Given the description of an element on the screen output the (x, y) to click on. 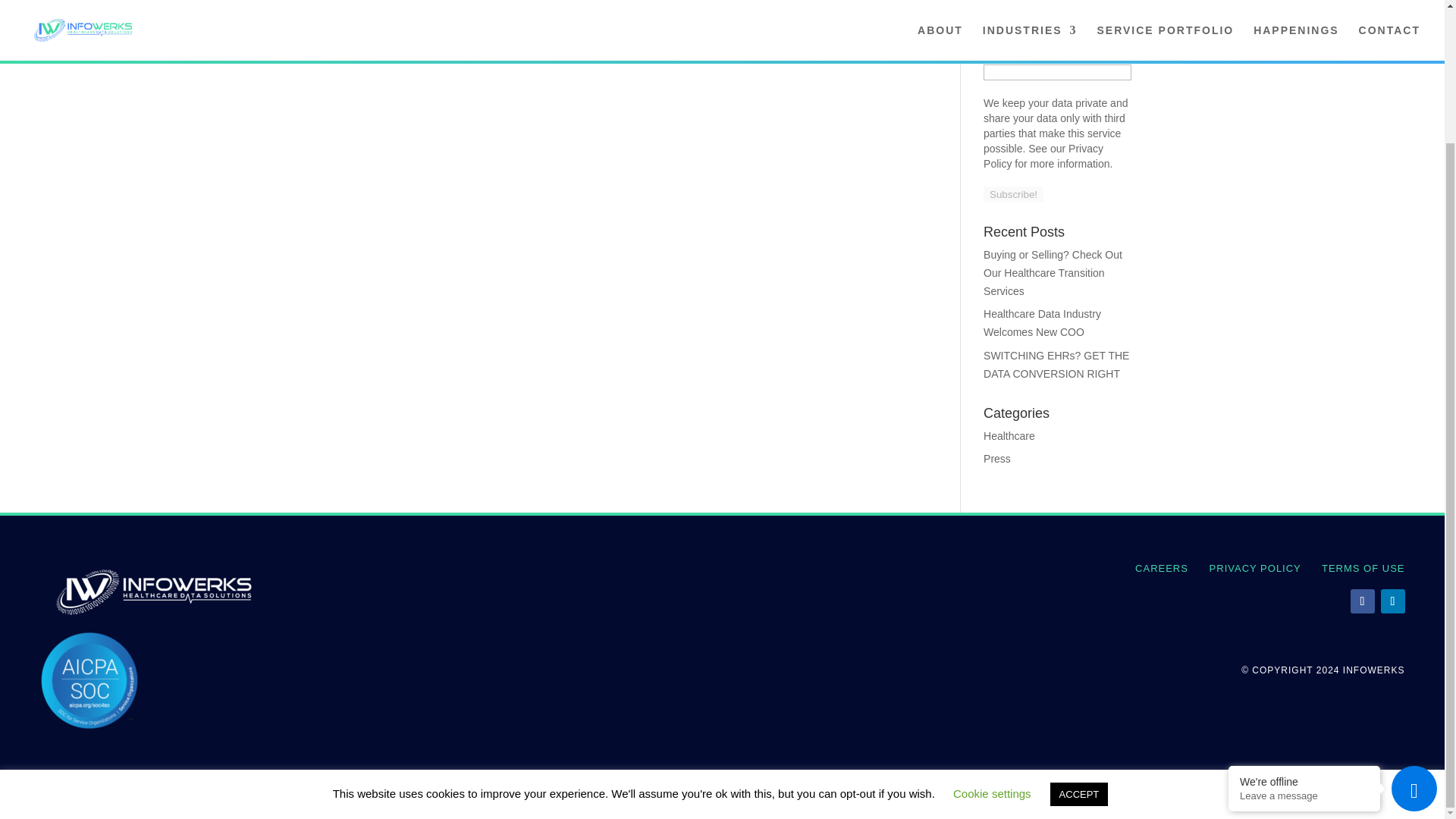
Follow on LinkedIn (1392, 600)
Healthcare (1009, 435)
Healthcare Data Industry Welcomes New COO (1042, 322)
CAREERS (1161, 568)
TERMS OF USE (1363, 568)
Follow on Facebook (1361, 600)
ACCEPT (1078, 631)
Subscribe! (1013, 194)
Cookie settings (991, 631)
Press (997, 458)
We're offline (1304, 619)
Subscribe! (1013, 194)
PRIVACY POLICY (1255, 568)
INFOWERK HORISONTAL WHITE (152, 591)
